Given the description of an element on the screen output the (x, y) to click on. 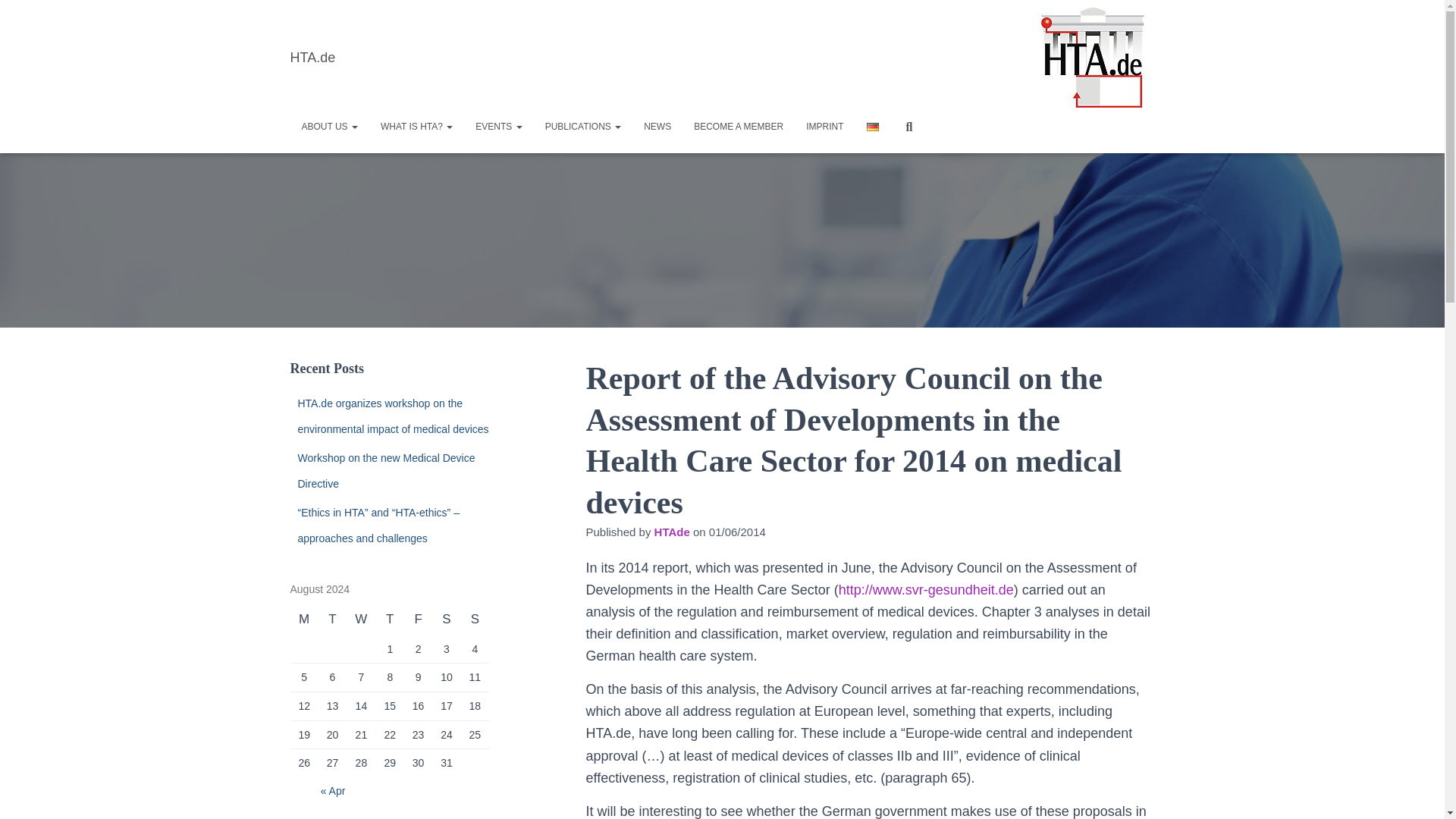
ABOUT US (328, 126)
WHAT IS HTA? (416, 126)
Publications (582, 126)
EVENTS (498, 126)
HTA.de (313, 57)
PUBLICATIONS (582, 126)
HTAde (671, 531)
HTA.de (313, 57)
Events (498, 126)
